Given the description of an element on the screen output the (x, y) to click on. 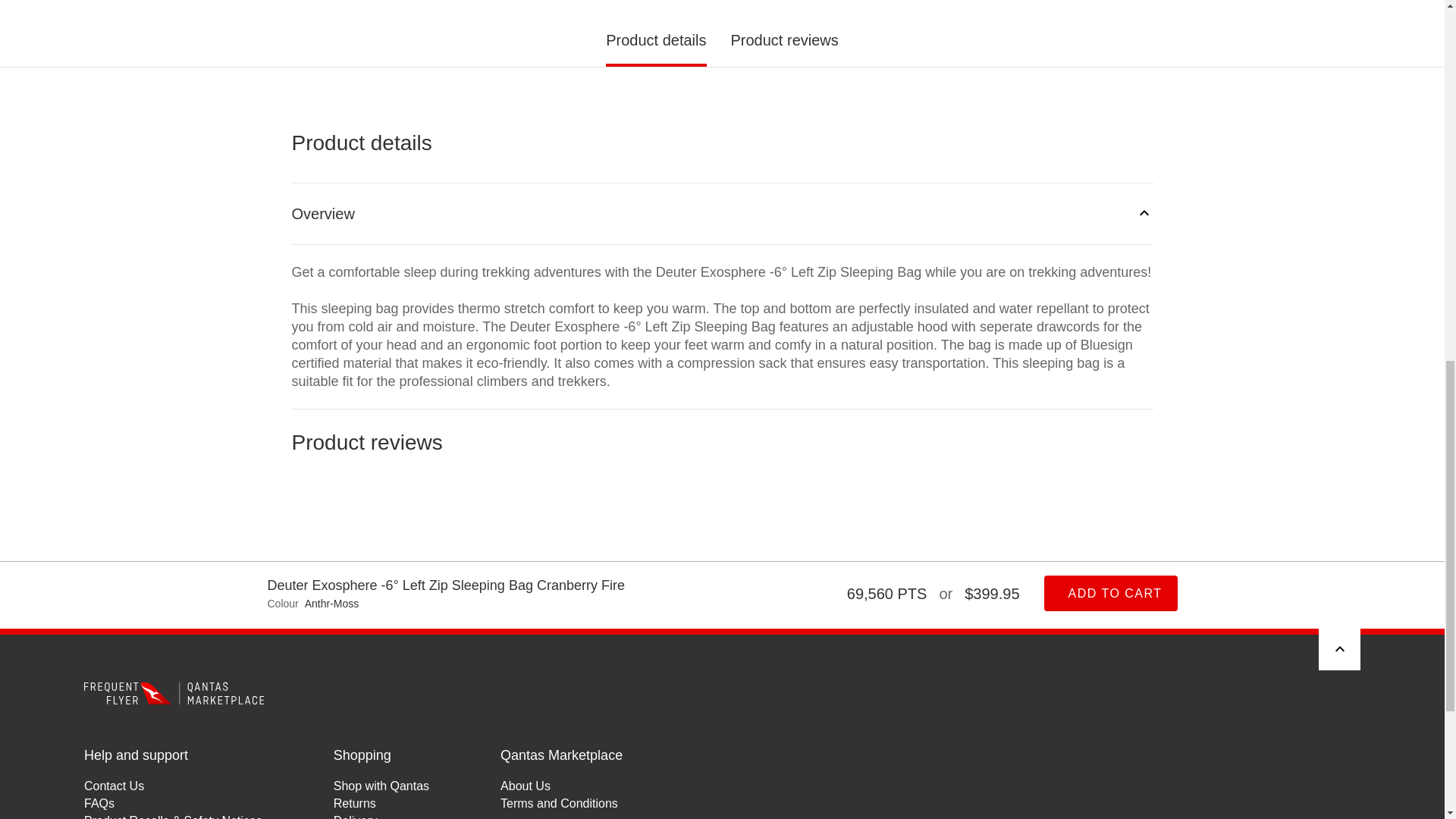
FAQs (173, 803)
Terms and Conditions (561, 803)
About Us (561, 785)
Contact Us (173, 785)
Delivery (381, 815)
Shop with Qantas (381, 785)
Product reviews (722, 494)
Returns (381, 803)
